Given the description of an element on the screen output the (x, y) to click on. 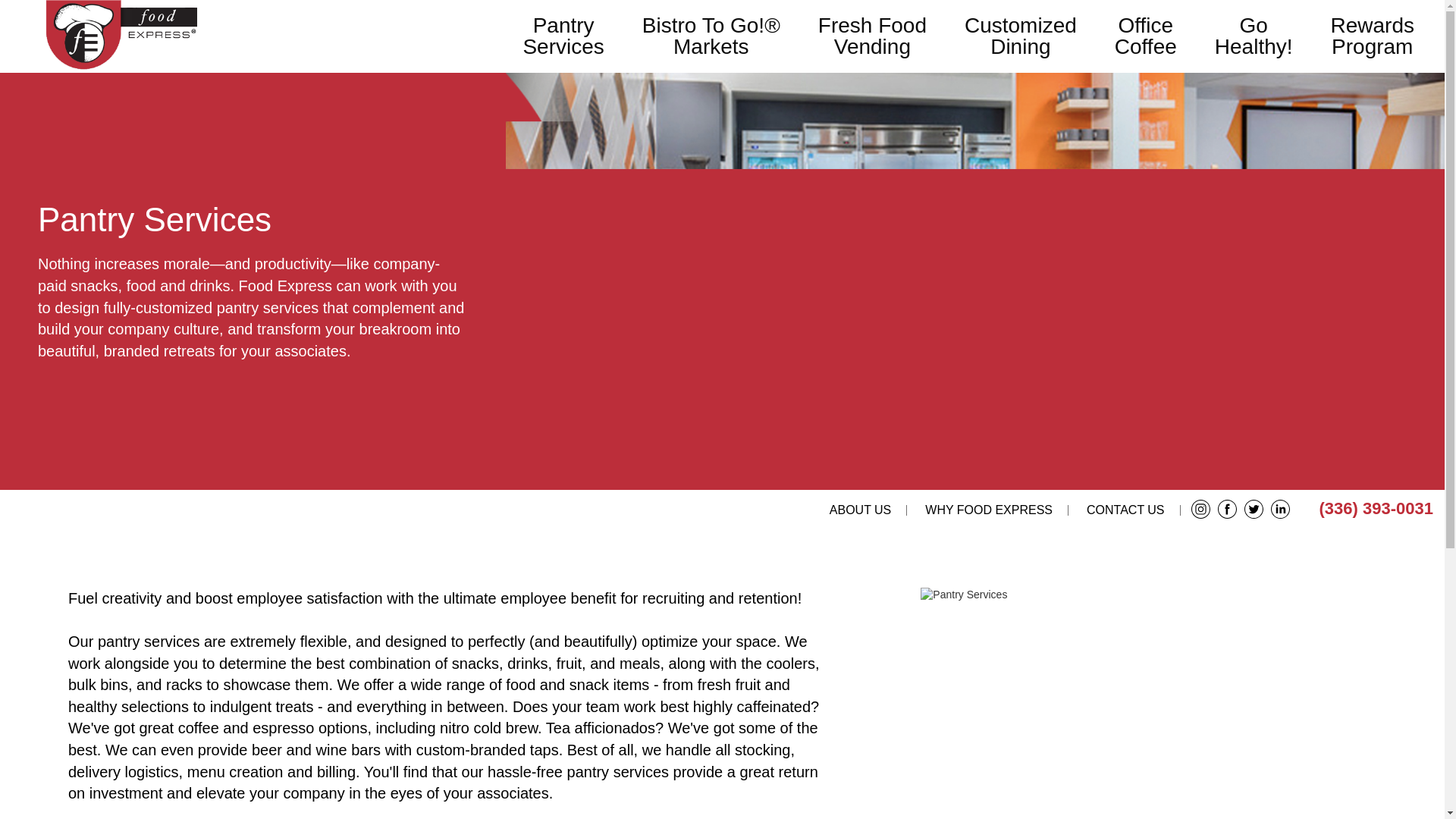
ABOUT US (1371, 36)
CONTACT US (864, 510)
WHY FOOD EXPRESS (1129, 510)
